Given the description of an element on the screen output the (x, y) to click on. 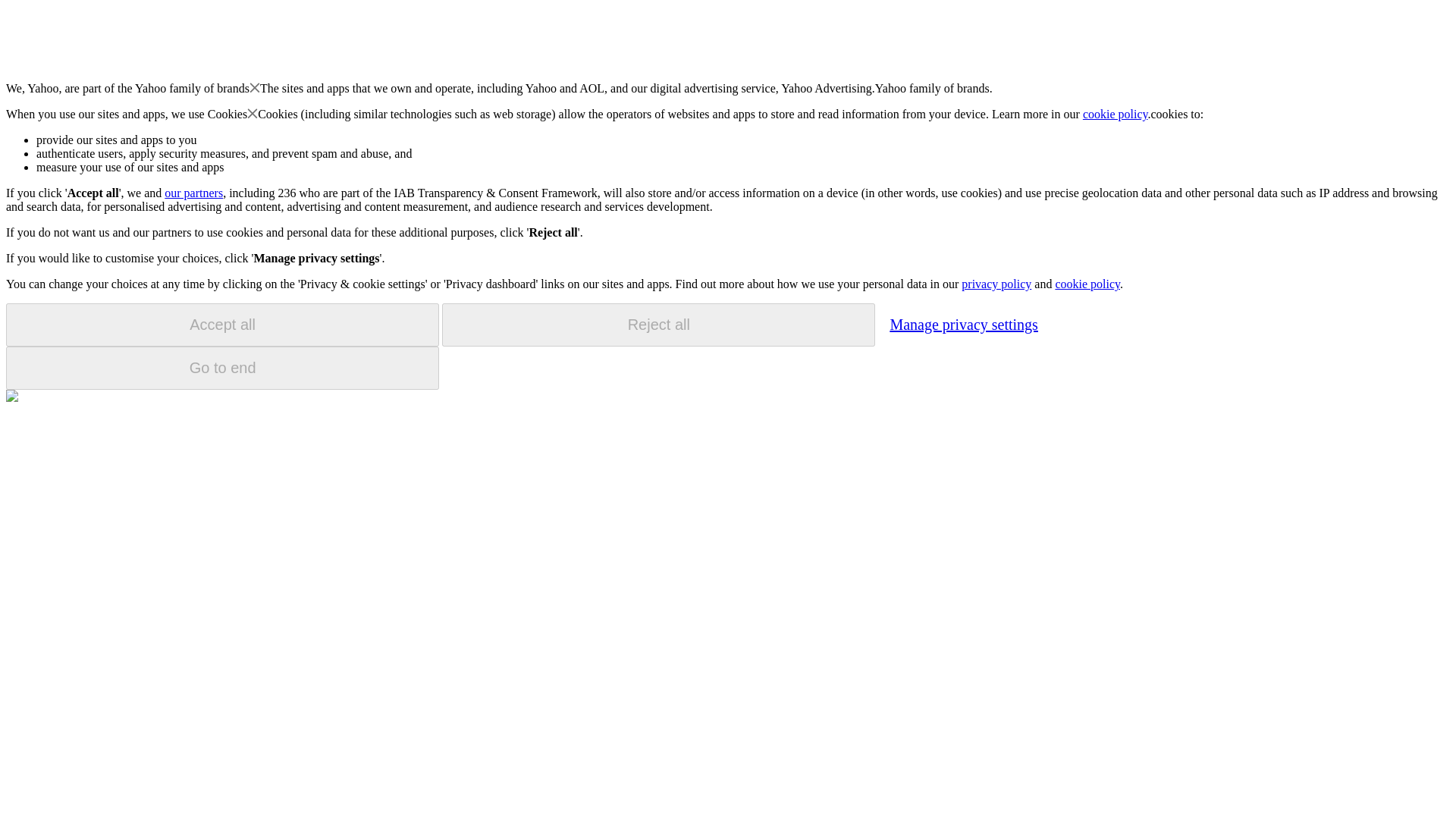
cookie policy (1115, 113)
Accept all (222, 324)
our partners (193, 192)
Reject all (658, 324)
privacy policy (995, 283)
Go to end (222, 367)
cookie policy (1086, 283)
Manage privacy settings (963, 323)
